Given the description of an element on the screen output the (x, y) to click on. 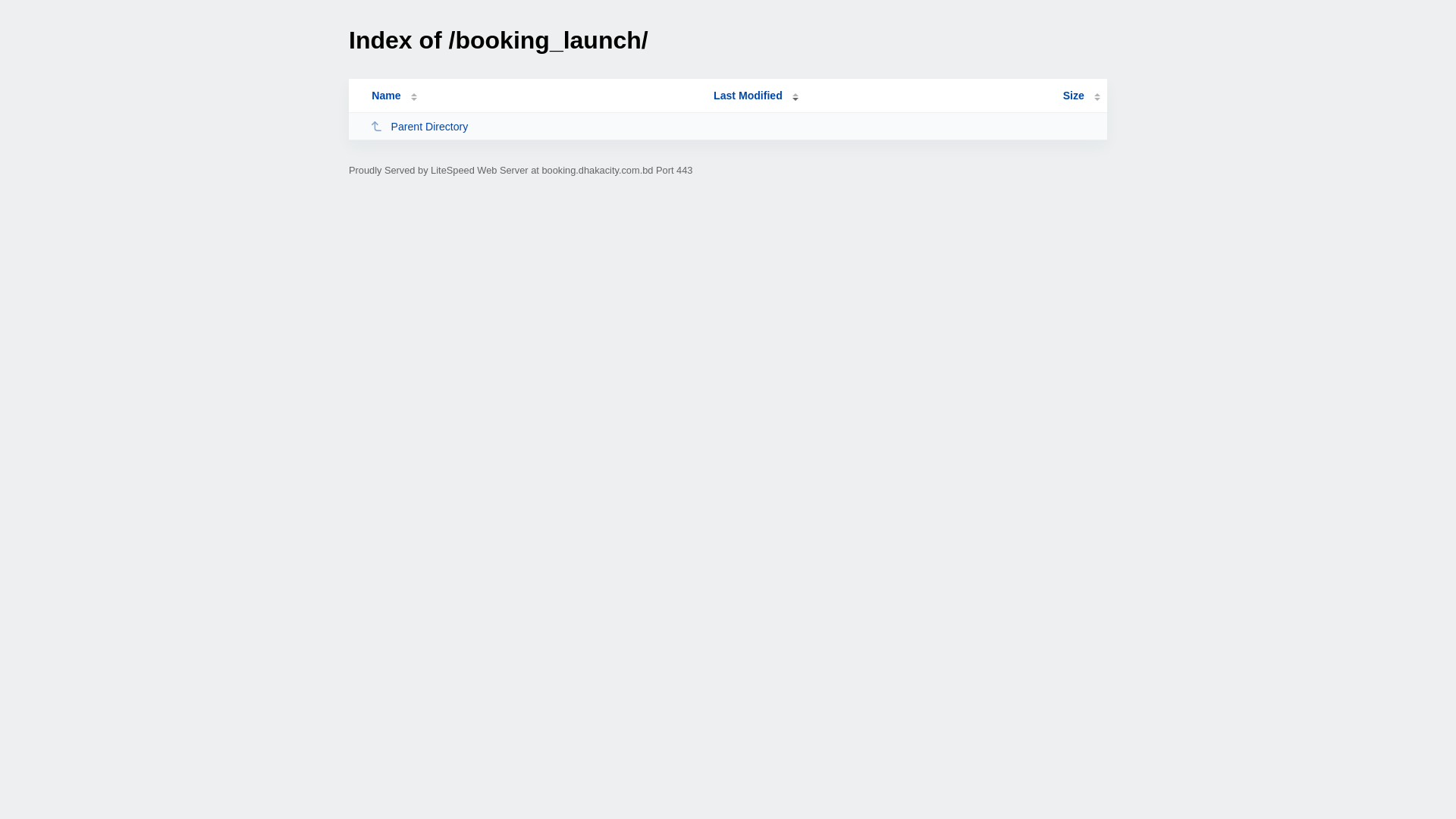
Size Element type: text (1081, 95)
Parent Directory Element type: text (534, 125)
Last Modified Element type: text (755, 95)
Name Element type: text (385, 95)
